Given the description of an element on the screen output the (x, y) to click on. 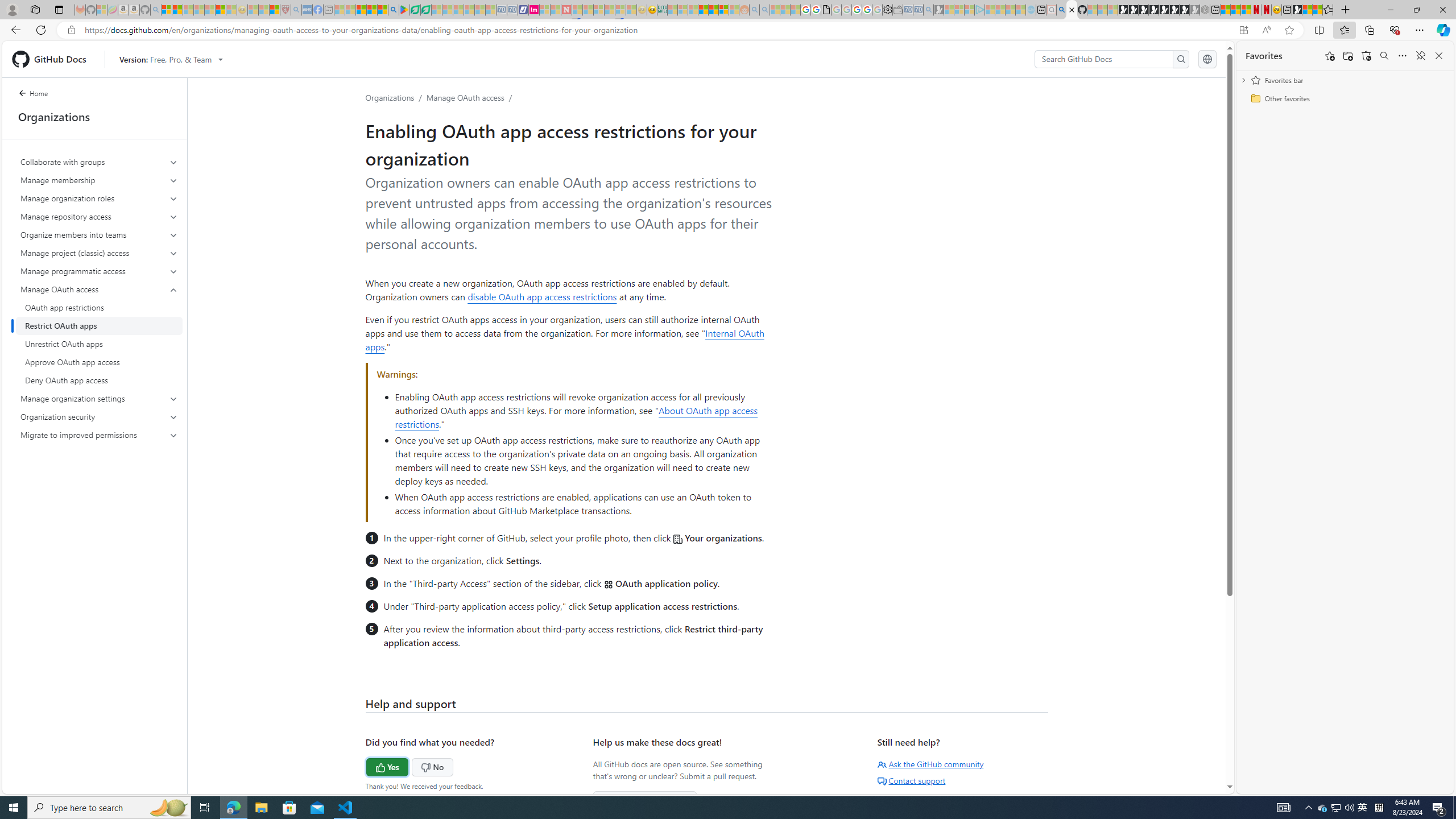
Collaborate with groups (99, 162)
Search GitHub Docs (1104, 58)
Collaborate with groups (99, 162)
Manage OAuth access (464, 97)
Unpin favorites (1420, 55)
Contact support (911, 780)
Read aloud this page (Ctrl+Shift+U) (1266, 29)
Manage organization roles (99, 198)
google_privacy_policy_zh-CN.pdf (825, 9)
Add folder (1347, 55)
Unrestrict OAuth apps (99, 343)
